Given the description of an element on the screen output the (x, y) to click on. 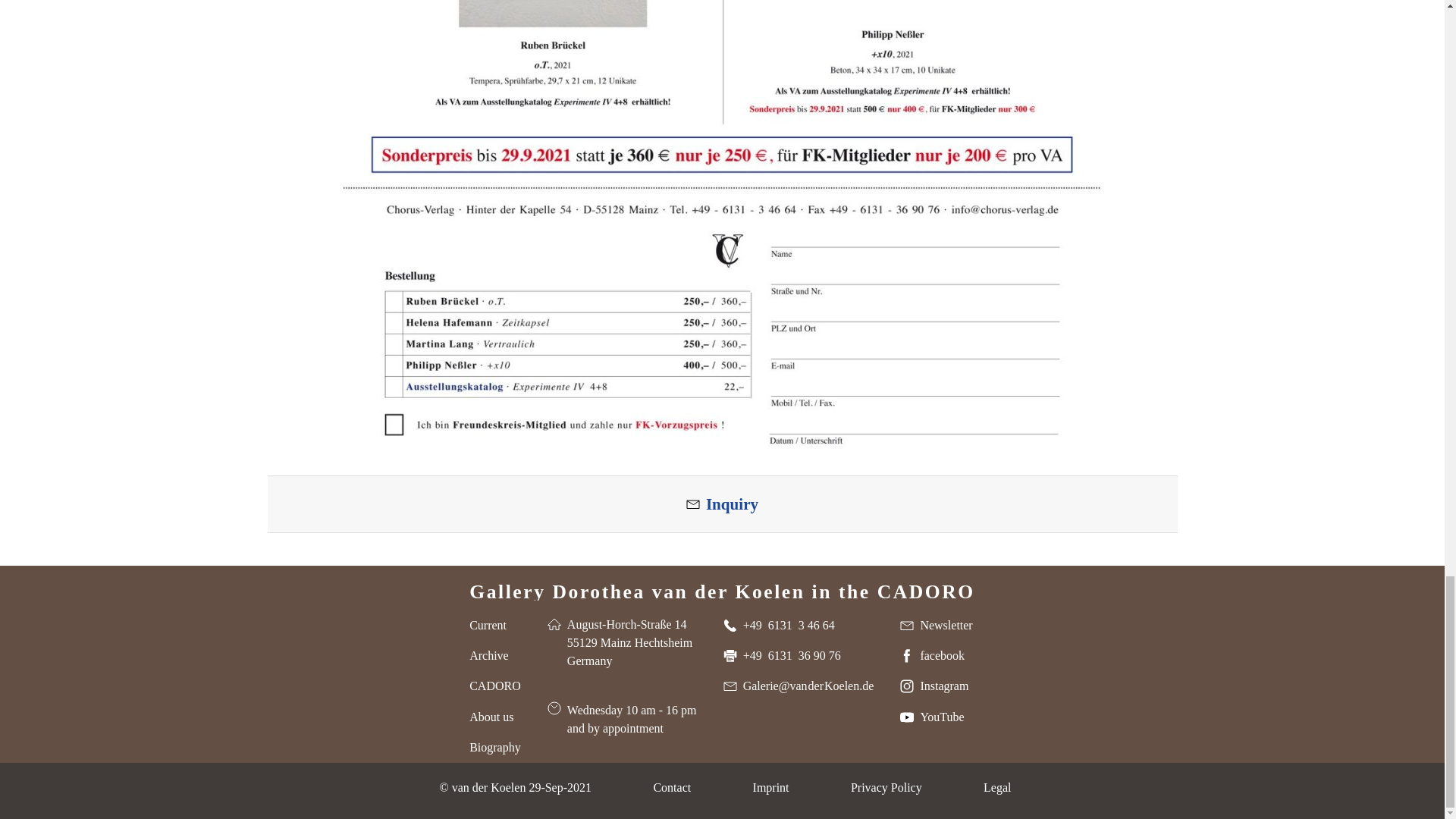
Opening time (622, 719)
Address (620, 642)
Current (487, 625)
Gallery Dorothea van der Koelen in the CADORO (721, 589)
Inquiry (721, 504)
Phone (778, 625)
Instagram (933, 686)
YouTube (931, 717)
